Given the description of an element on the screen output the (x, y) to click on. 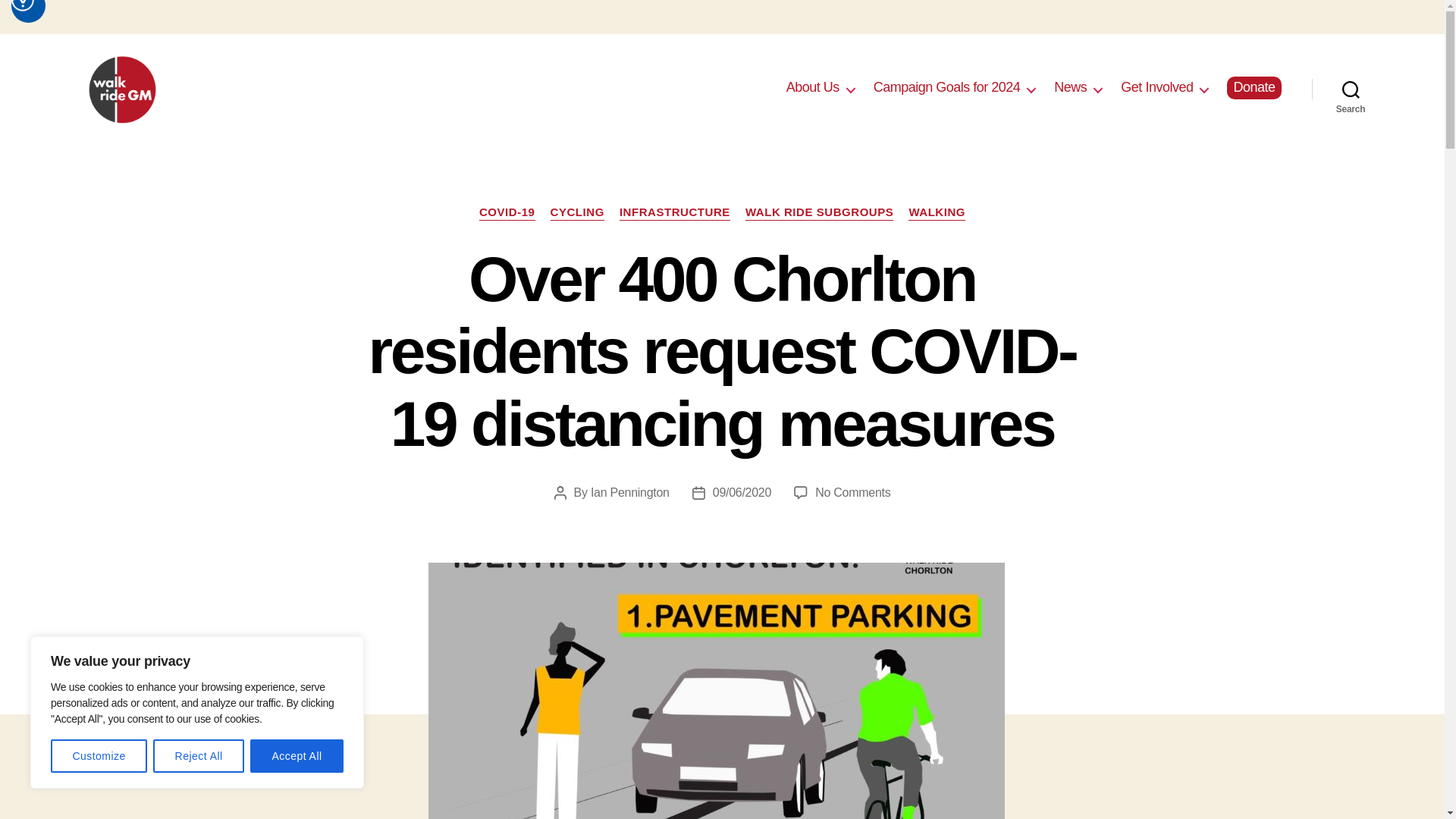
About Us (820, 87)
Accept All (296, 756)
Customize (98, 756)
News (1078, 87)
Donate (1254, 87)
Campaign Goals for 2024 (954, 87)
Search (1350, 89)
Get Involved (1164, 87)
Reject All (198, 756)
